Given the description of an element on the screen output the (x, y) to click on. 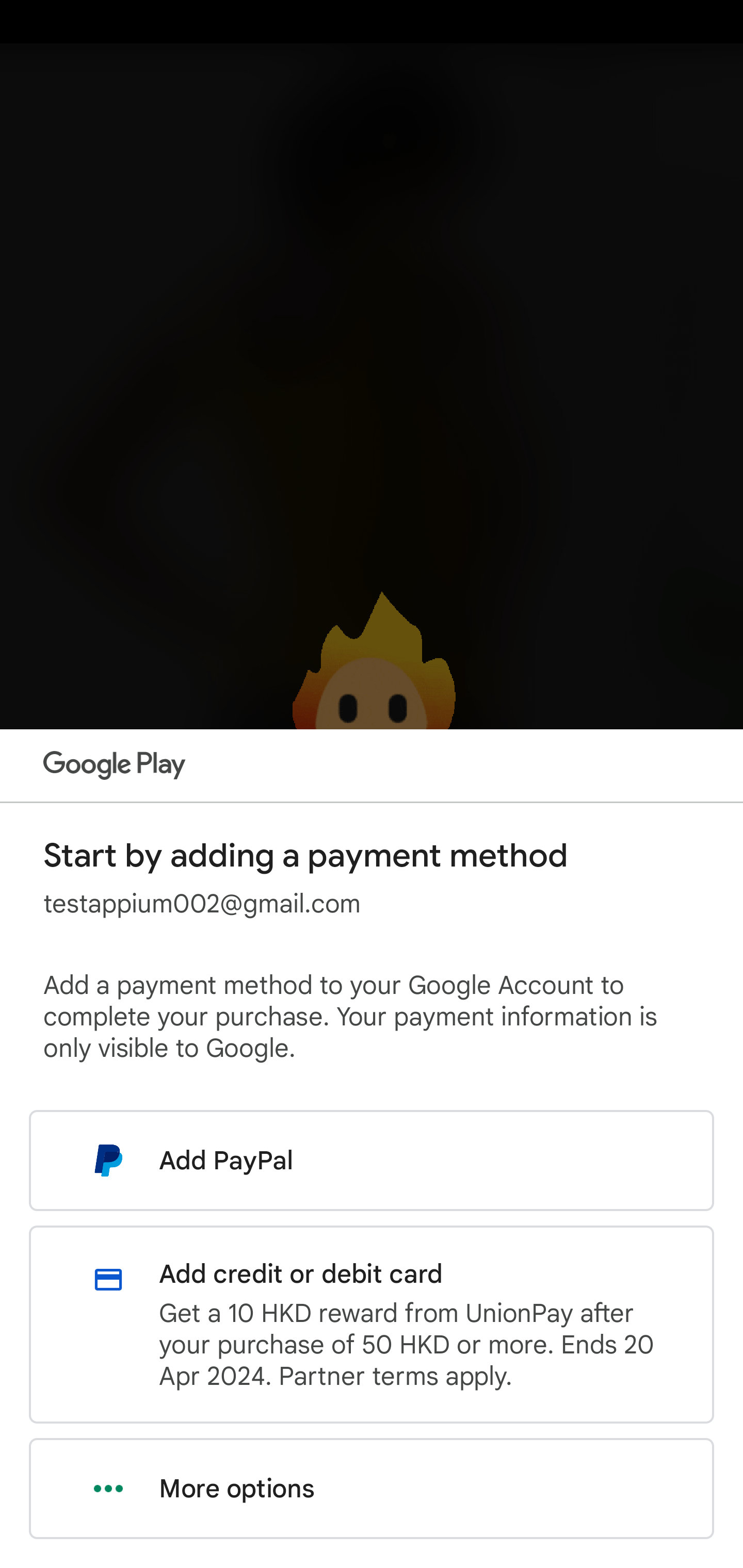
Add PayPal (371, 1160)
More options (371, 1488)
